Given the description of an element on the screen output the (x, y) to click on. 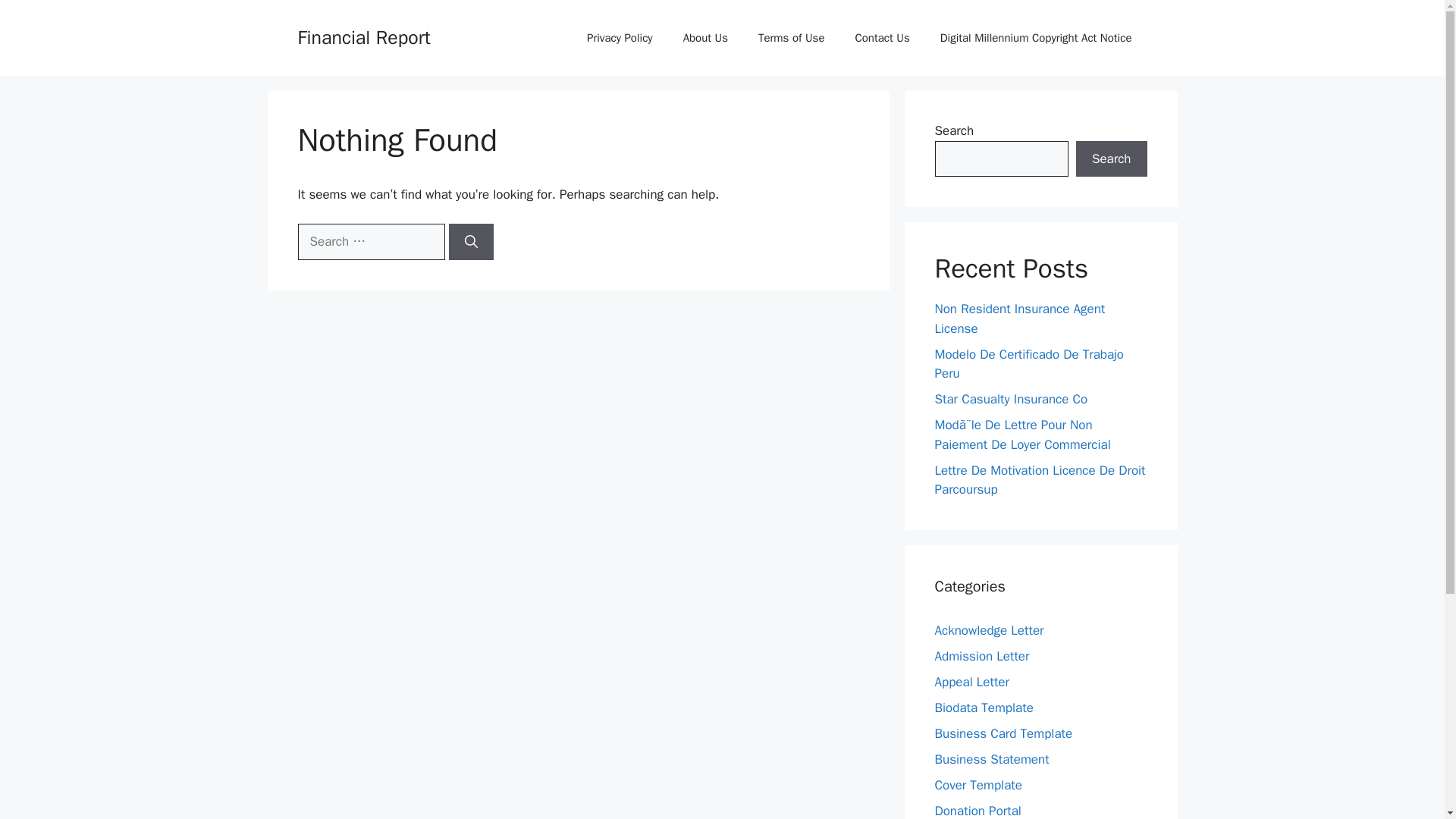
Non Resident Insurance Agent License (1019, 318)
Financial Report (363, 37)
Business Card Template (1002, 732)
Modelo De Certificado De Trabajo Peru (1029, 363)
Privacy Policy (620, 37)
Star Casualty Insurance Co (1010, 399)
Appeal Letter (971, 681)
Biodata Template (983, 706)
Search for: (370, 241)
Donation Portal (977, 810)
